Given the description of an element on the screen output the (x, y) to click on. 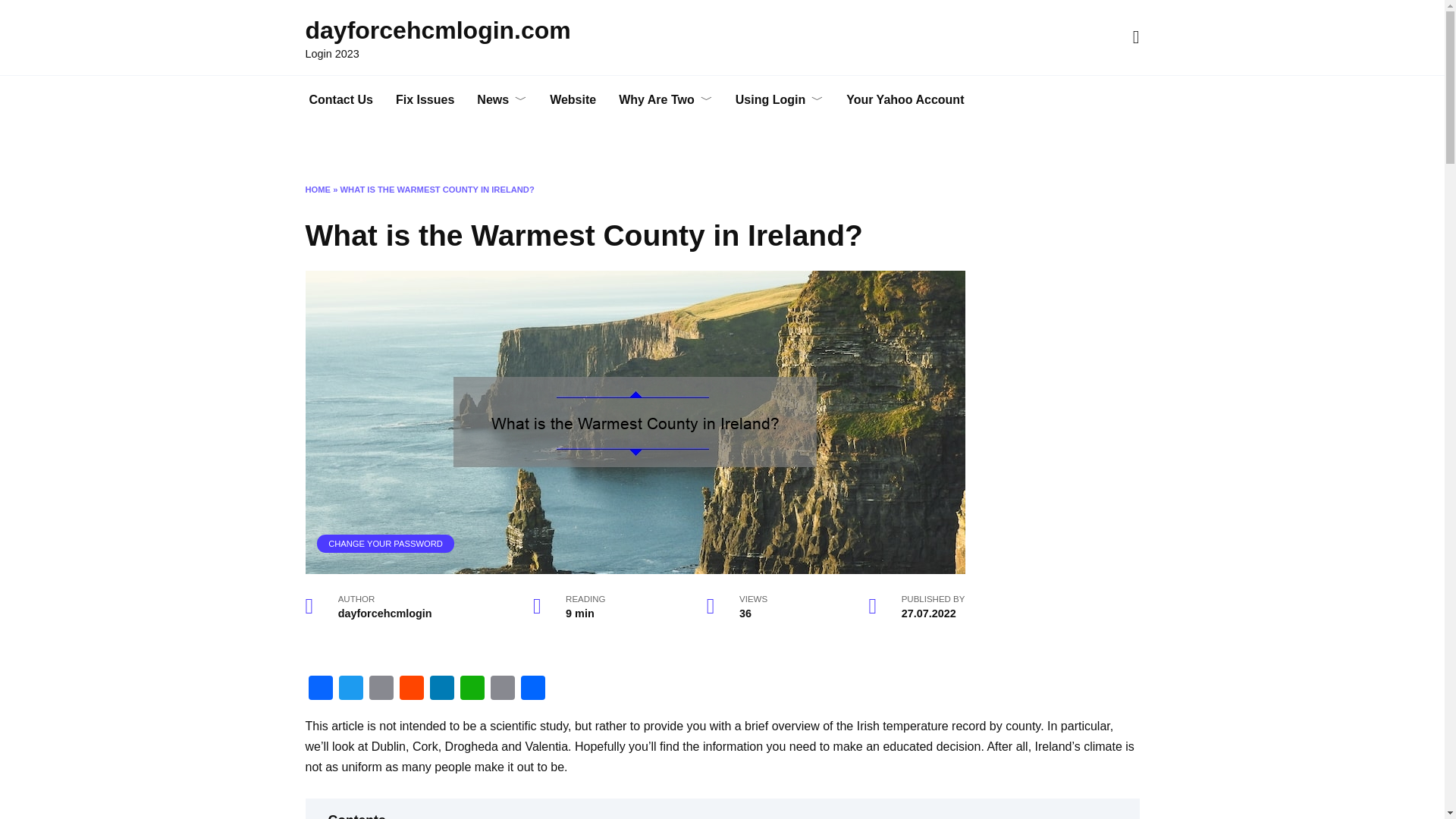
dayforcehcmlogin.com (437, 30)
Contact Us (340, 100)
Using Login (778, 100)
Email (380, 689)
LinkedIn (441, 689)
Facebook (319, 689)
News (501, 100)
Reddit (411, 689)
Your Yahoo Account (904, 100)
CHANGE YOUR PASSWORD (385, 542)
Twitter (349, 689)
Reddit (411, 689)
LinkedIn (441, 689)
WhatsApp (471, 689)
Email (380, 689)
